Given the description of an element on the screen output the (x, y) to click on. 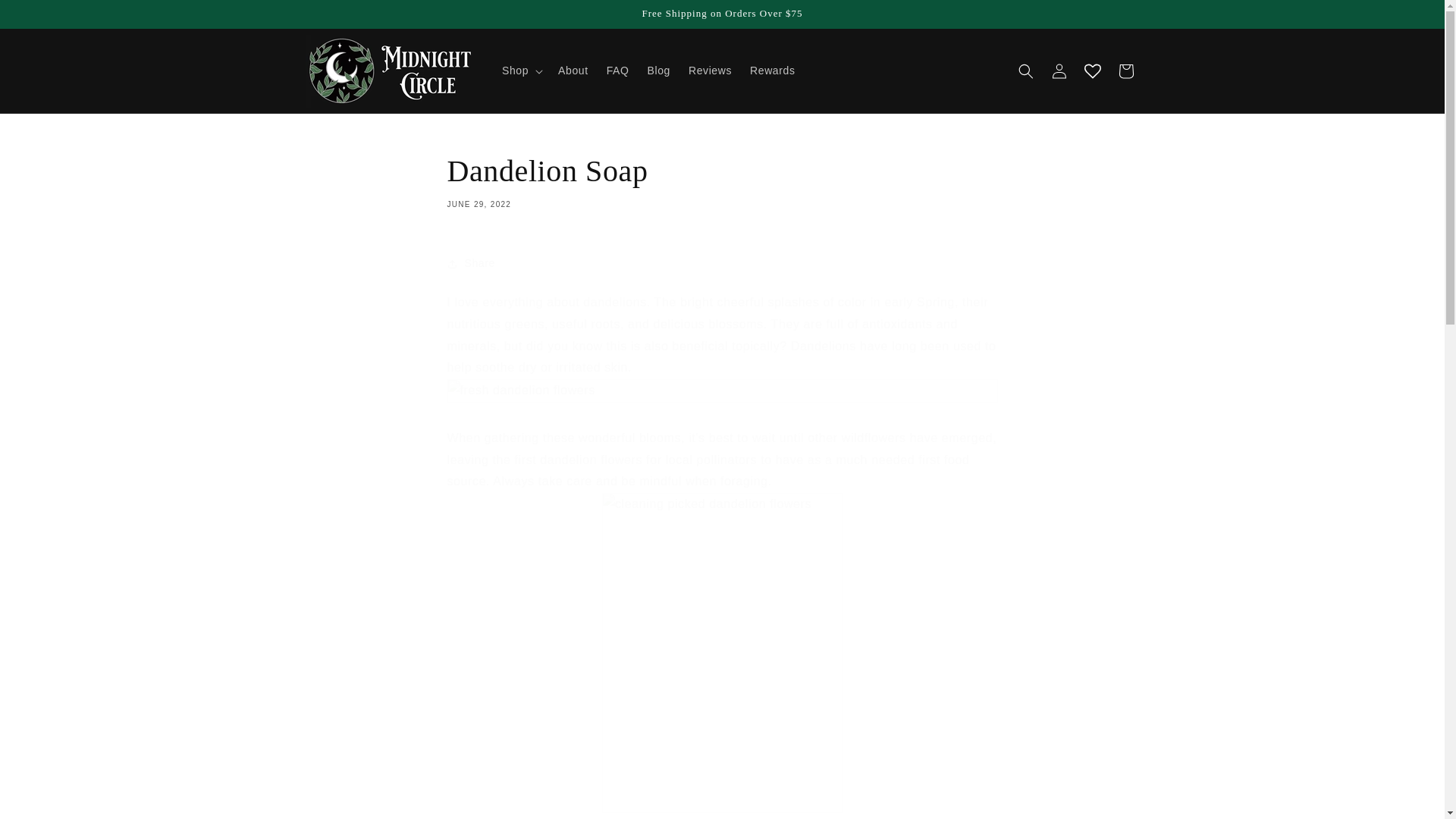
Share (721, 263)
Blog (659, 70)
About (572, 70)
Reviews (710, 70)
Skip to content (721, 180)
FAQ (45, 17)
Rewards (617, 70)
